Given the description of an element on the screen output the (x, y) to click on. 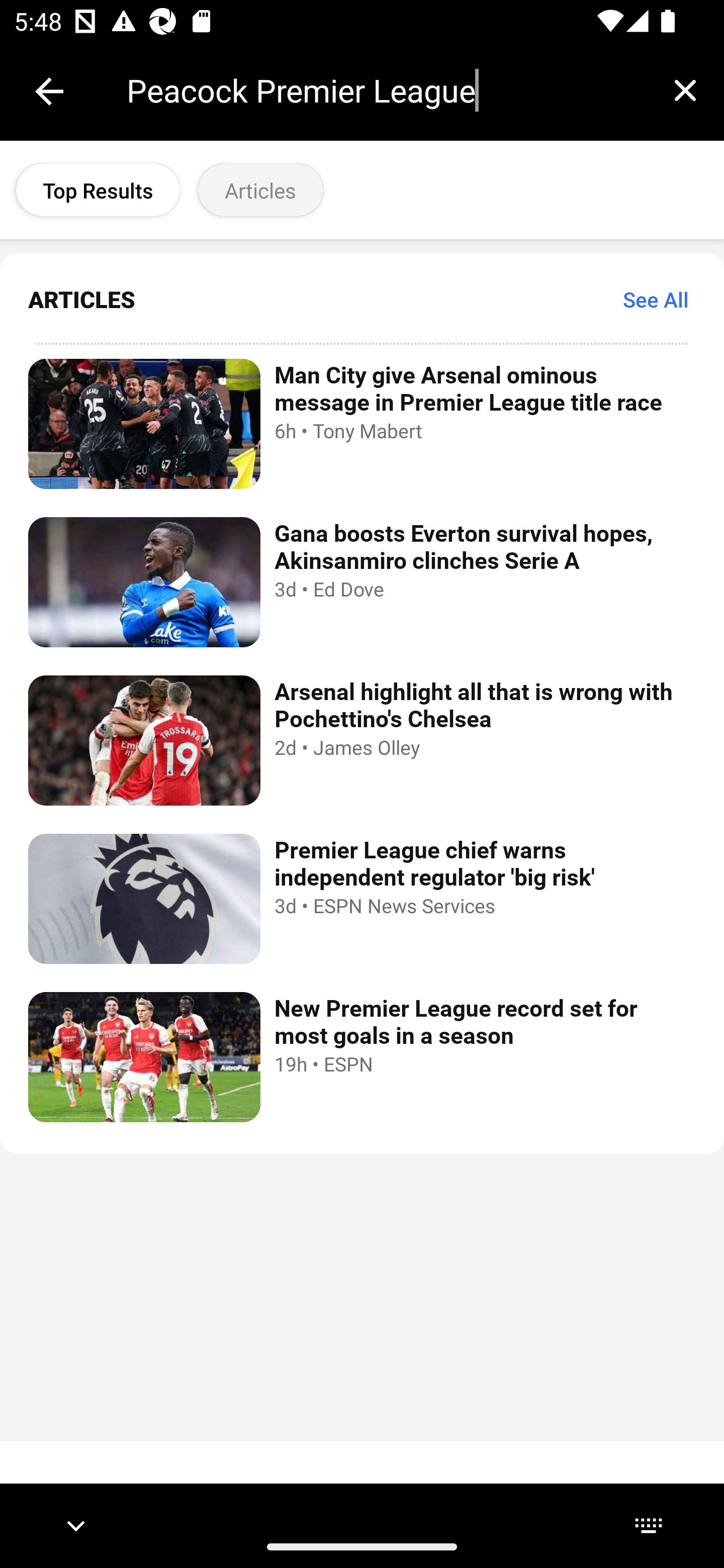
Collapse (49, 91)
Clear query (685, 89)
Peacock Premier League (386, 90)
Top Results (97, 190)
Articles (260, 190)
See All (655, 298)
